Given the description of an element on the screen output the (x, y) to click on. 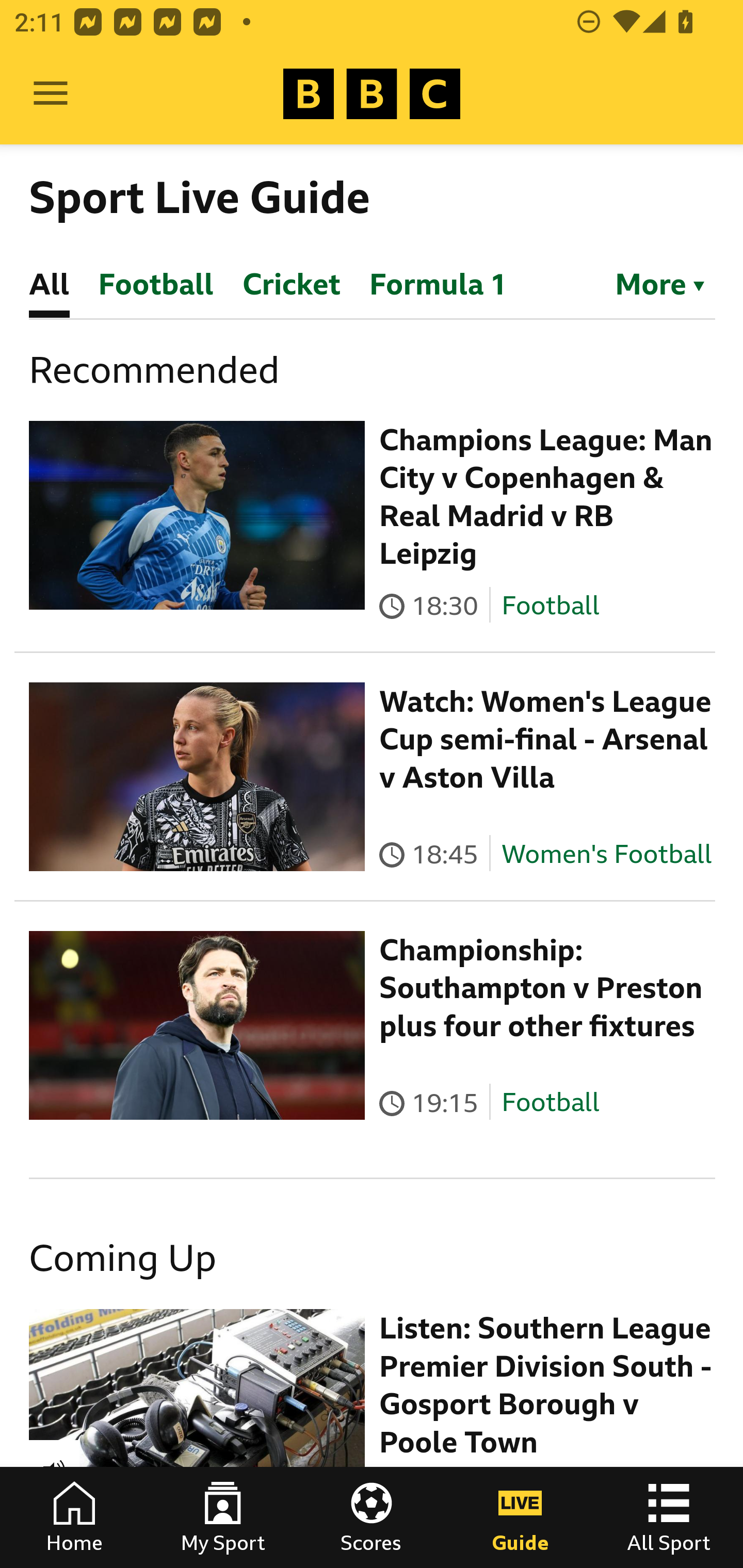
Open Menu (50, 93)
Football (550, 604)
Women's Football (606, 853)
Football (550, 1102)
Home (74, 1517)
My Sport (222, 1517)
Scores (371, 1517)
All Sport (668, 1517)
